Given the description of an element on the screen output the (x, y) to click on. 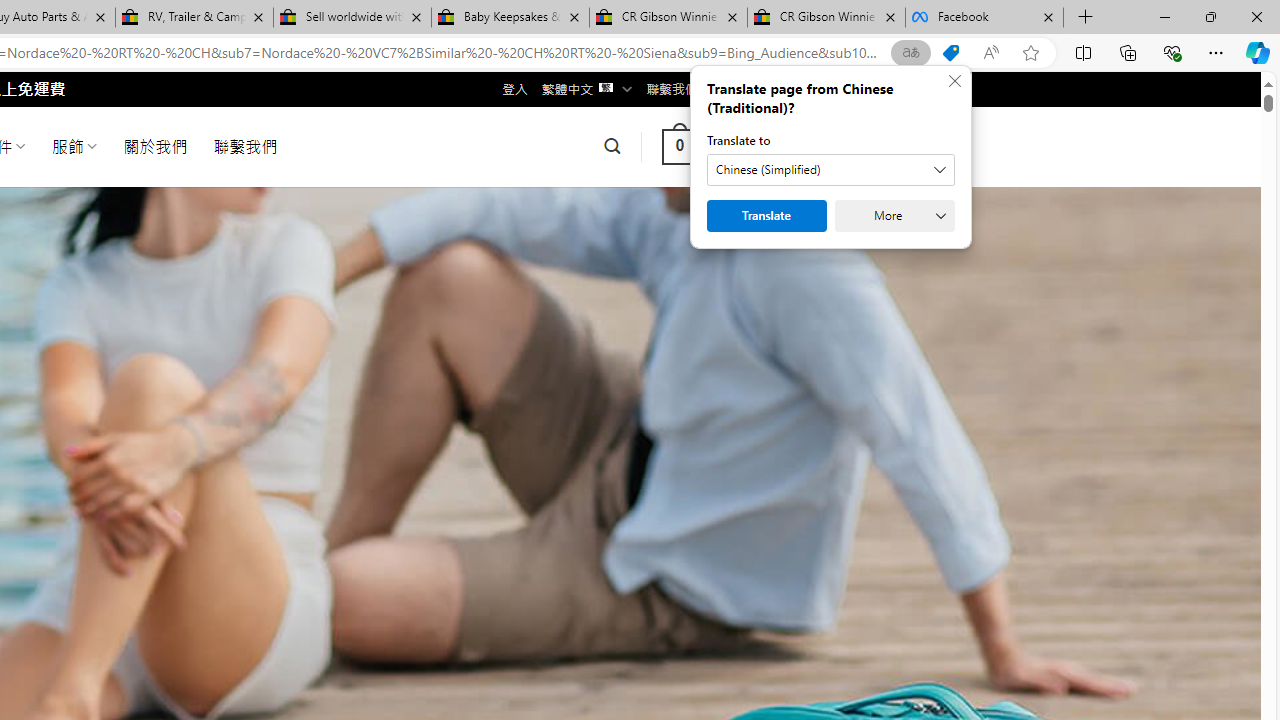
Translate (766, 215)
This site has coupons! Shopping in Microsoft Edge (950, 53)
  0   (679, 146)
Translate to (830, 169)
